Given the description of an element on the screen output the (x, y) to click on. 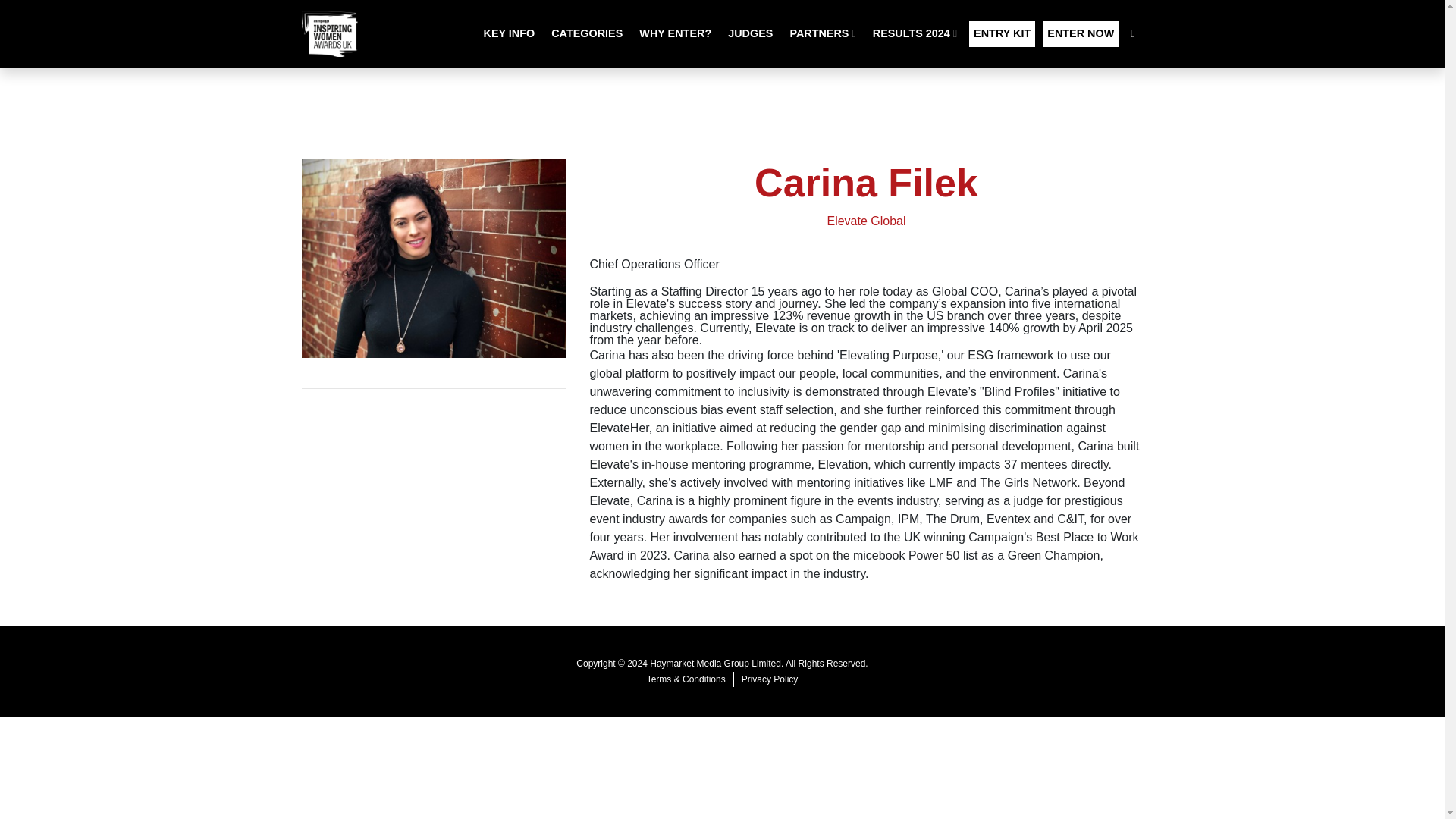
ENTRY KIT (1002, 33)
ENTER NOW (1080, 33)
KEY INFO (509, 33)
KEY INFO (509, 33)
JUDGES (750, 33)
RESULTS 2024 (913, 33)
PARTNERS (822, 33)
PARTNERS (822, 33)
JUDGES (750, 33)
RESULTS 2024 (913, 33)
CATEGORIES (587, 33)
WHY ENTER? (675, 33)
Privacy Policy (769, 679)
ENTER NOW (1080, 33)
WHY ENTER? (675, 33)
